Given the description of an element on the screen output the (x, y) to click on. 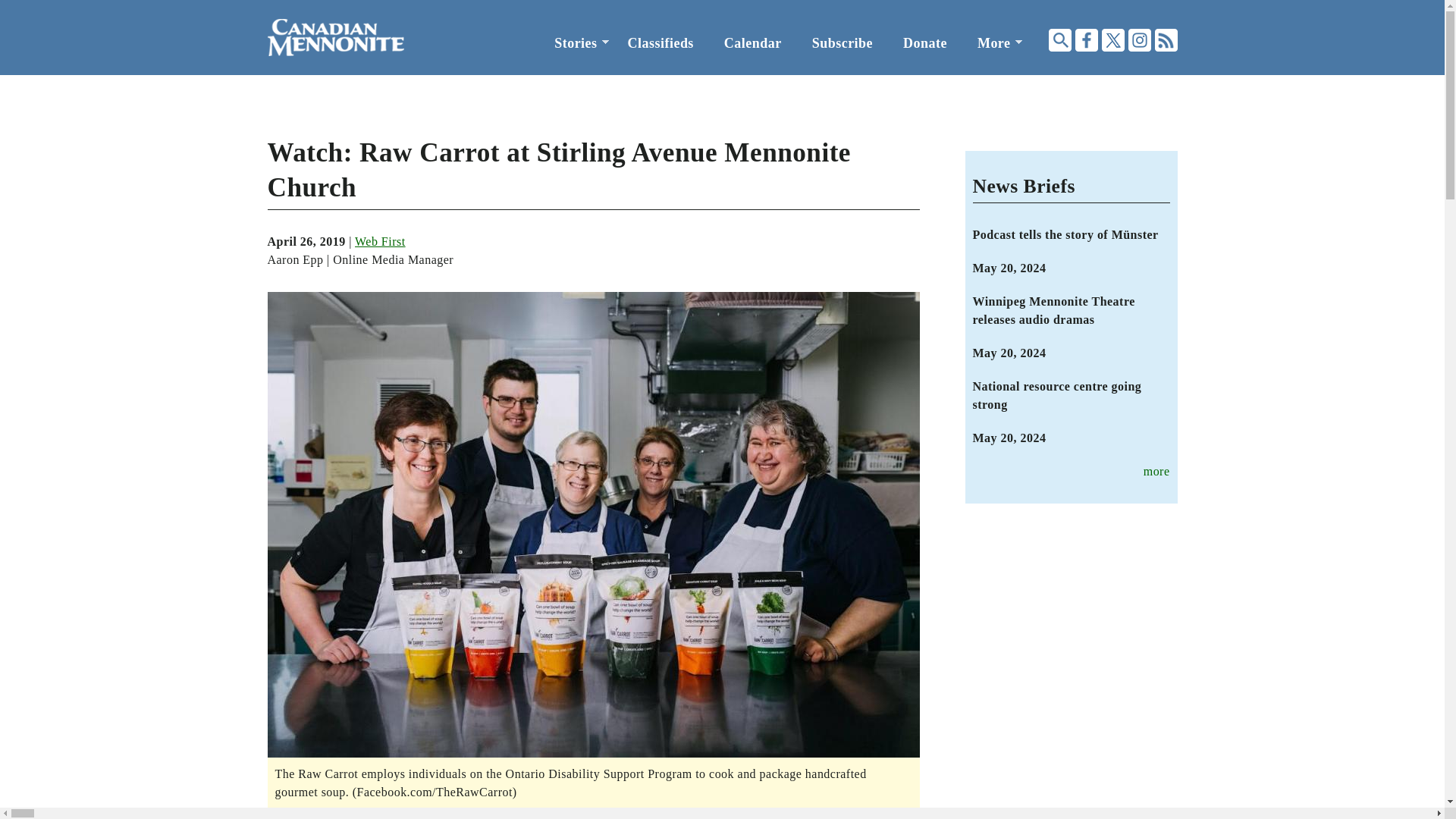
Classifieds (660, 42)
Donate (925, 42)
Browse Stories (574, 42)
Subscribe (842, 42)
RSS (1165, 39)
Subscribe to Canadian Mennonite (842, 42)
Church Events Calendar (752, 42)
Support Canadian Mennonite (925, 42)
Calendar (752, 42)
Web First (380, 241)
